Given the description of an element on the screen output the (x, y) to click on. 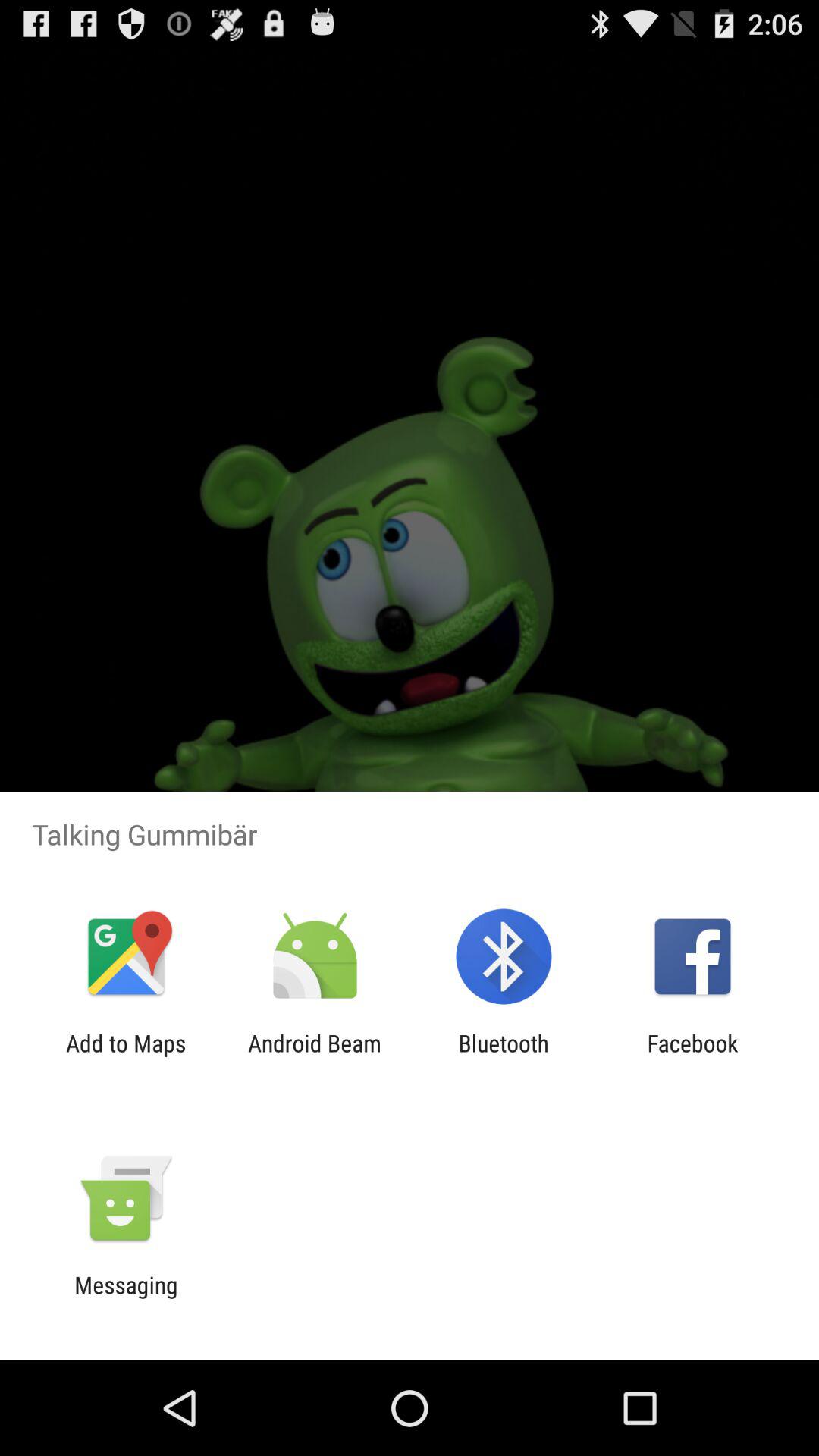
open icon next to the android beam icon (125, 1056)
